Given the description of an element on the screen output the (x, y) to click on. 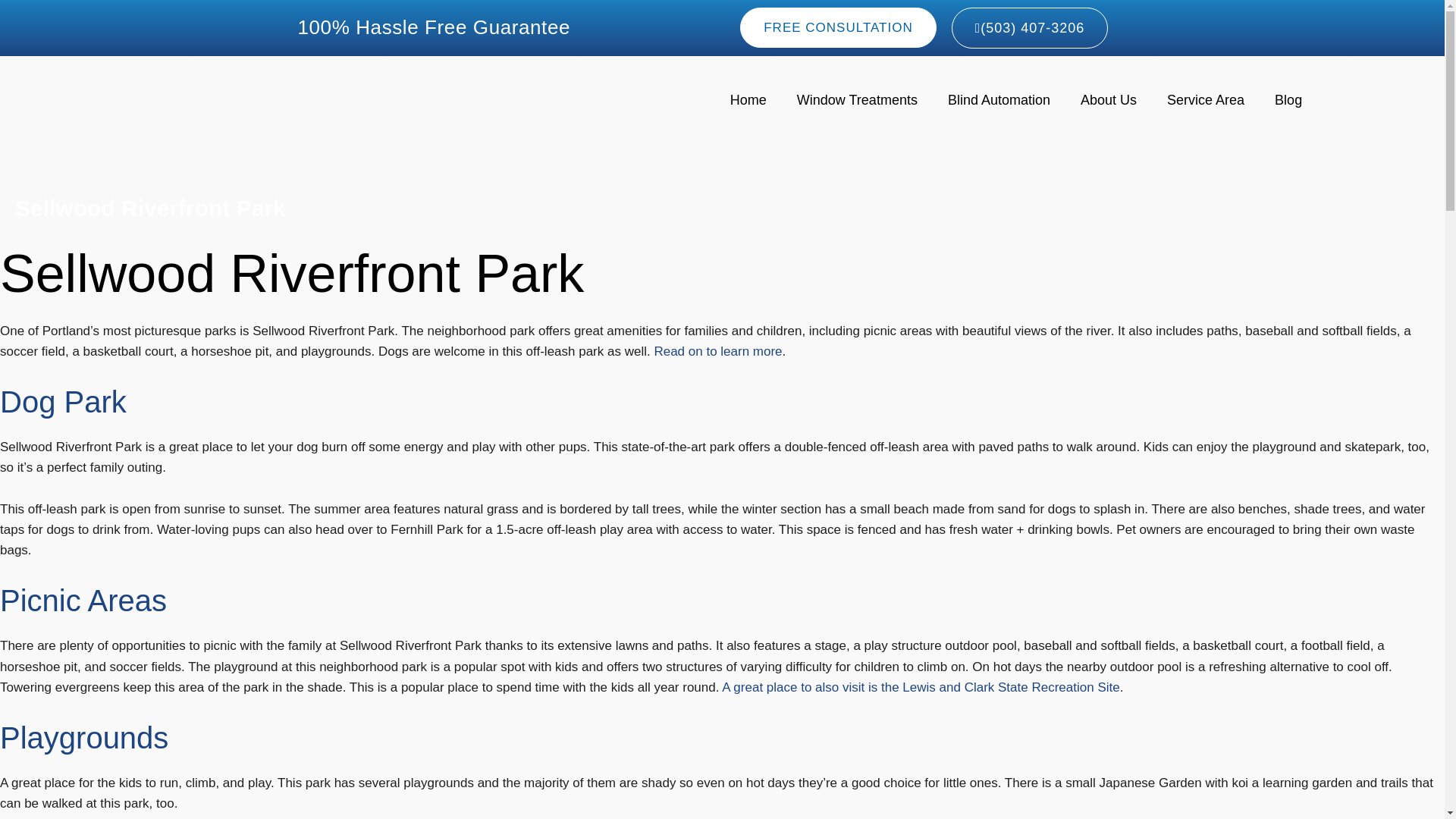
Window Treatments (857, 99)
About Us (1108, 99)
Service Area (1205, 99)
Blind Automation (999, 99)
Blog (1288, 99)
FREE CONSULTATION (837, 27)
Home (747, 99)
